Given the description of an element on the screen output the (x, y) to click on. 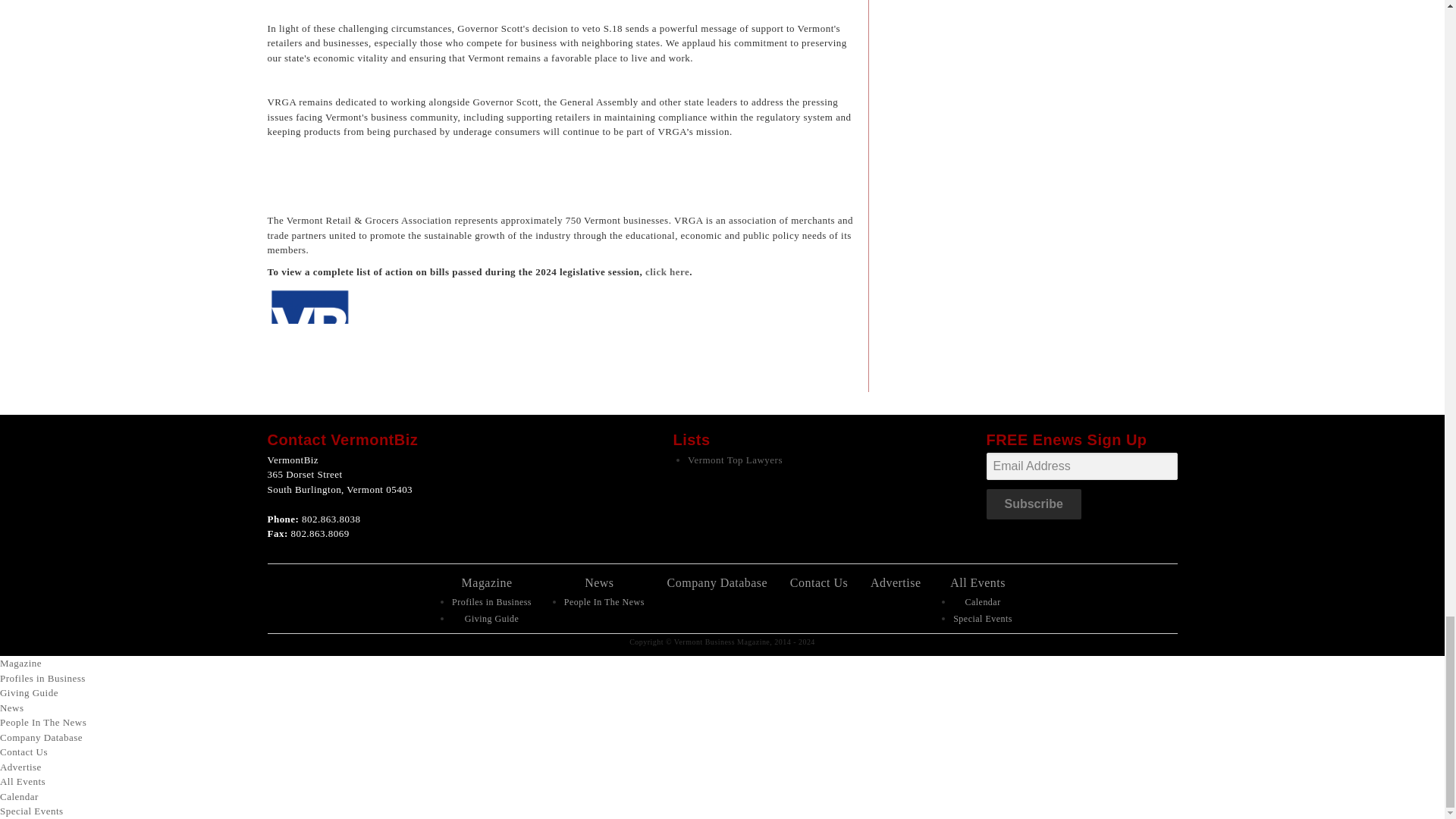
Subscribe (1032, 503)
All Events (978, 582)
Subscribe (1032, 503)
Profiles in Business (491, 602)
Vermont Top Lawyers (735, 460)
Magazine (486, 582)
Contact Us (818, 582)
People In The News (604, 602)
Company Database (717, 582)
click here (666, 271)
